Given the description of an element on the screen output the (x, y) to click on. 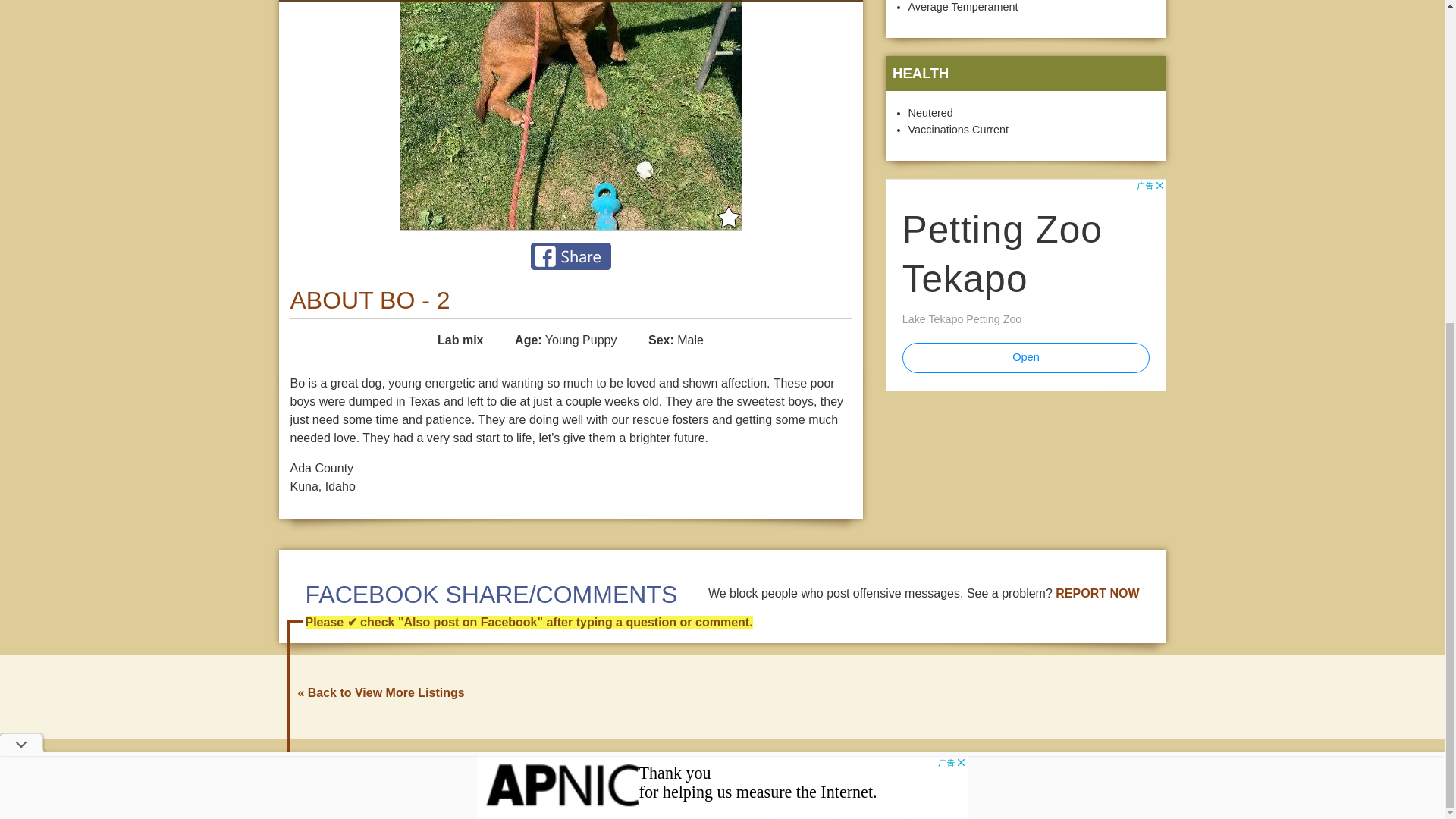
Advertisement (1025, 285)
REPORT NOW (1096, 593)
Advertisement (722, 260)
